Given the description of an element on the screen output the (x, y) to click on. 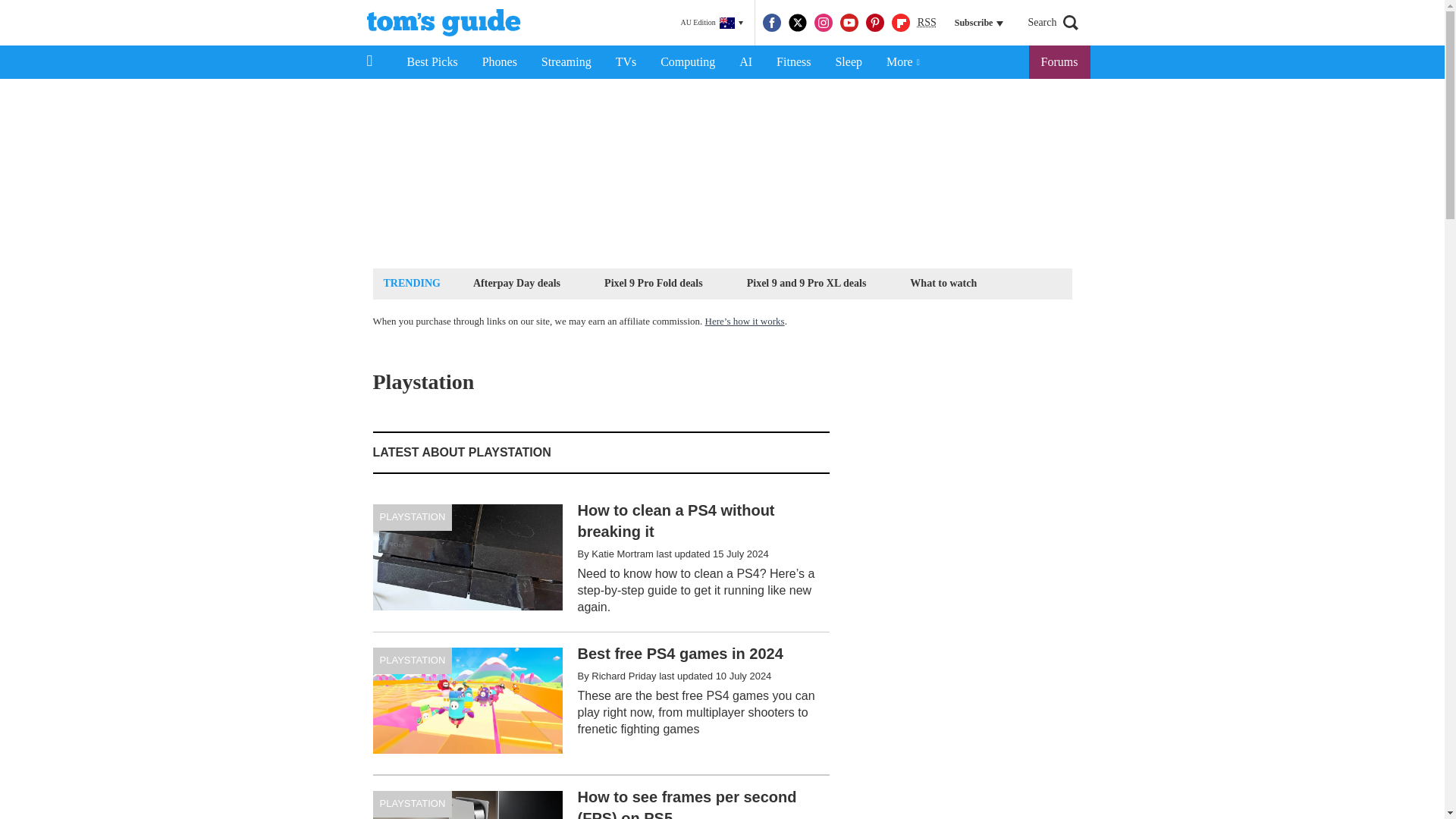
Streaming (566, 61)
Phones (499, 61)
Really Simple Syndication (926, 21)
Sleep (848, 61)
AI (745, 61)
AU Edition (710, 22)
TVs (626, 61)
Best Picks (431, 61)
RSS (926, 22)
Fitness (793, 61)
